Given the description of an element on the screen output the (x, y) to click on. 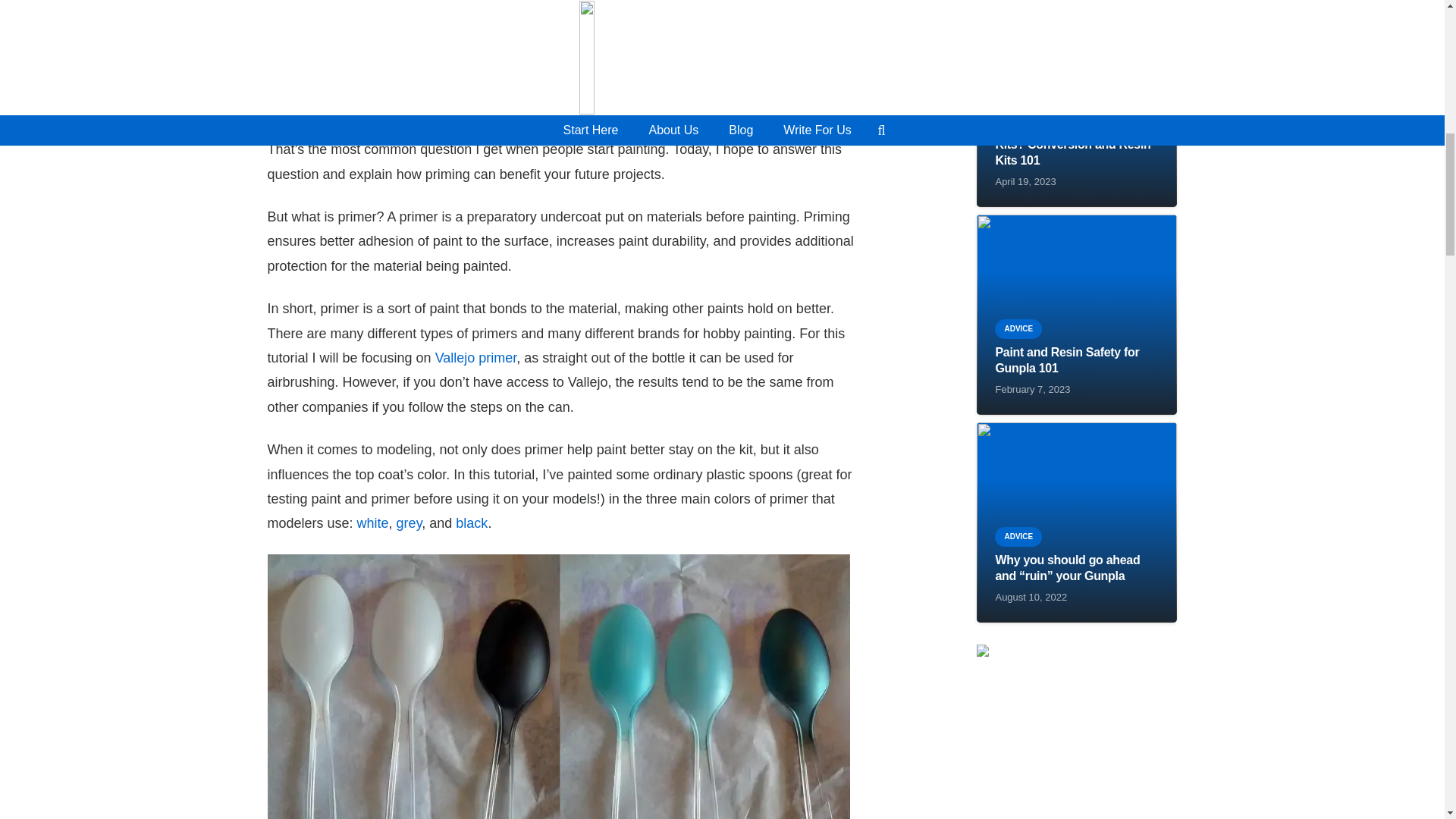
grey (409, 522)
Vallejo primer (475, 357)
black (471, 522)
white (372, 522)
Back to top (1413, 26)
